Given the description of an element on the screen output the (x, y) to click on. 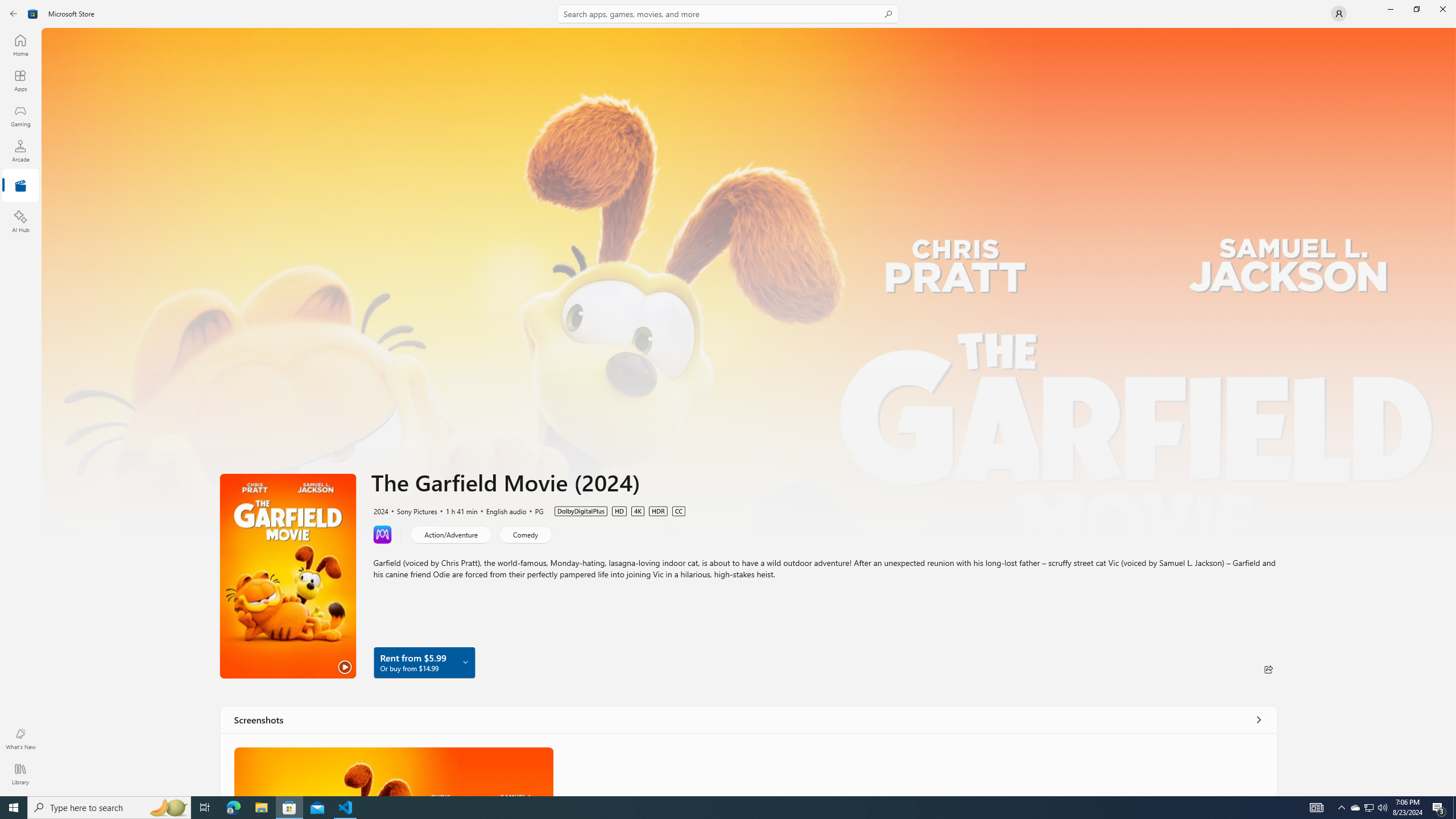
Back (13, 13)
AutomationID: NavigationControl (728, 398)
Class: Image (393, 771)
Comedy (525, 533)
Gaming (20, 115)
Play Trailer (287, 575)
Minimize Microsoft Store (1390, 9)
Arcade (20, 150)
Class: ListViewItem (393, 771)
PG (534, 510)
English audio (501, 510)
AI Hub (20, 221)
Library (20, 773)
